Given the description of an element on the screen output the (x, y) to click on. 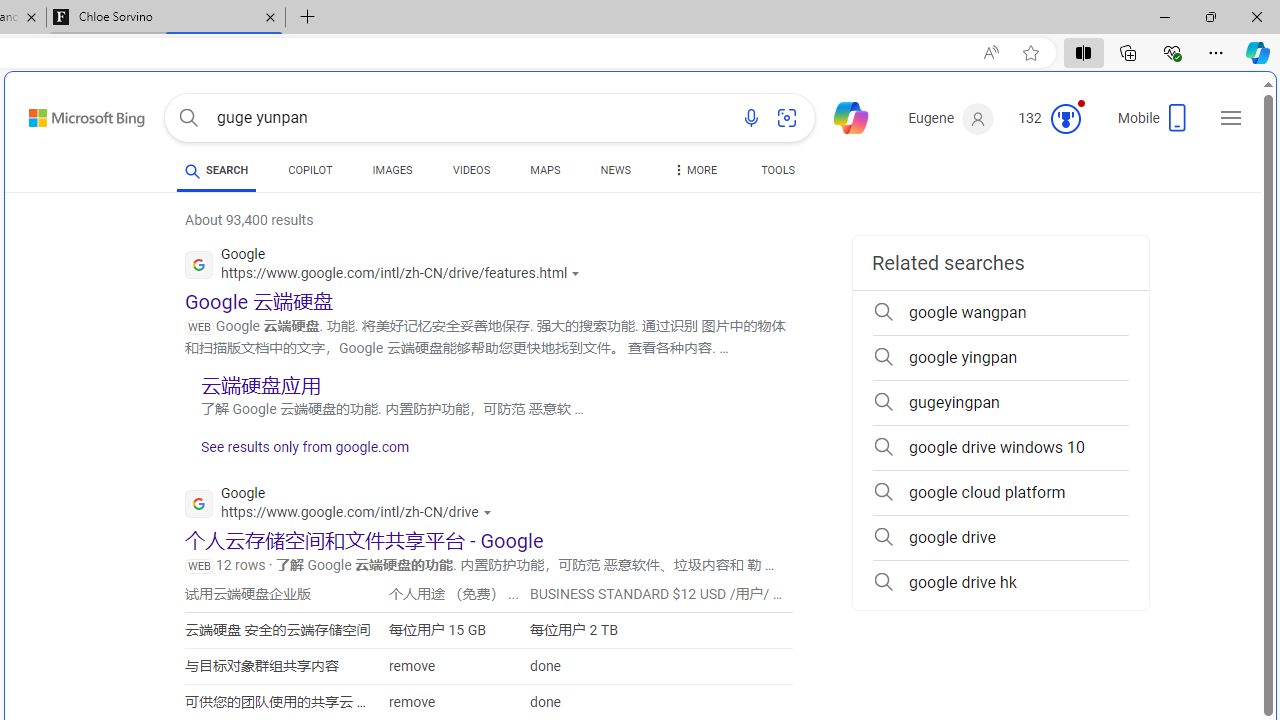
TOOLS (777, 173)
Add this page to favorites (Ctrl+D) (1030, 53)
google cloud platform (1000, 492)
Settings and quick links (1231, 117)
Read aloud this page (Ctrl+Shift+U) (991, 53)
Close (1256, 16)
SEARCH (216, 170)
Skip to content (65, 111)
COPILOT (310, 173)
Global web icon (198, 503)
MORE (693, 173)
Search (188, 117)
Microsoft Rewards 123 (1052, 119)
Restore (1210, 16)
